Given the description of an element on the screen output the (x, y) to click on. 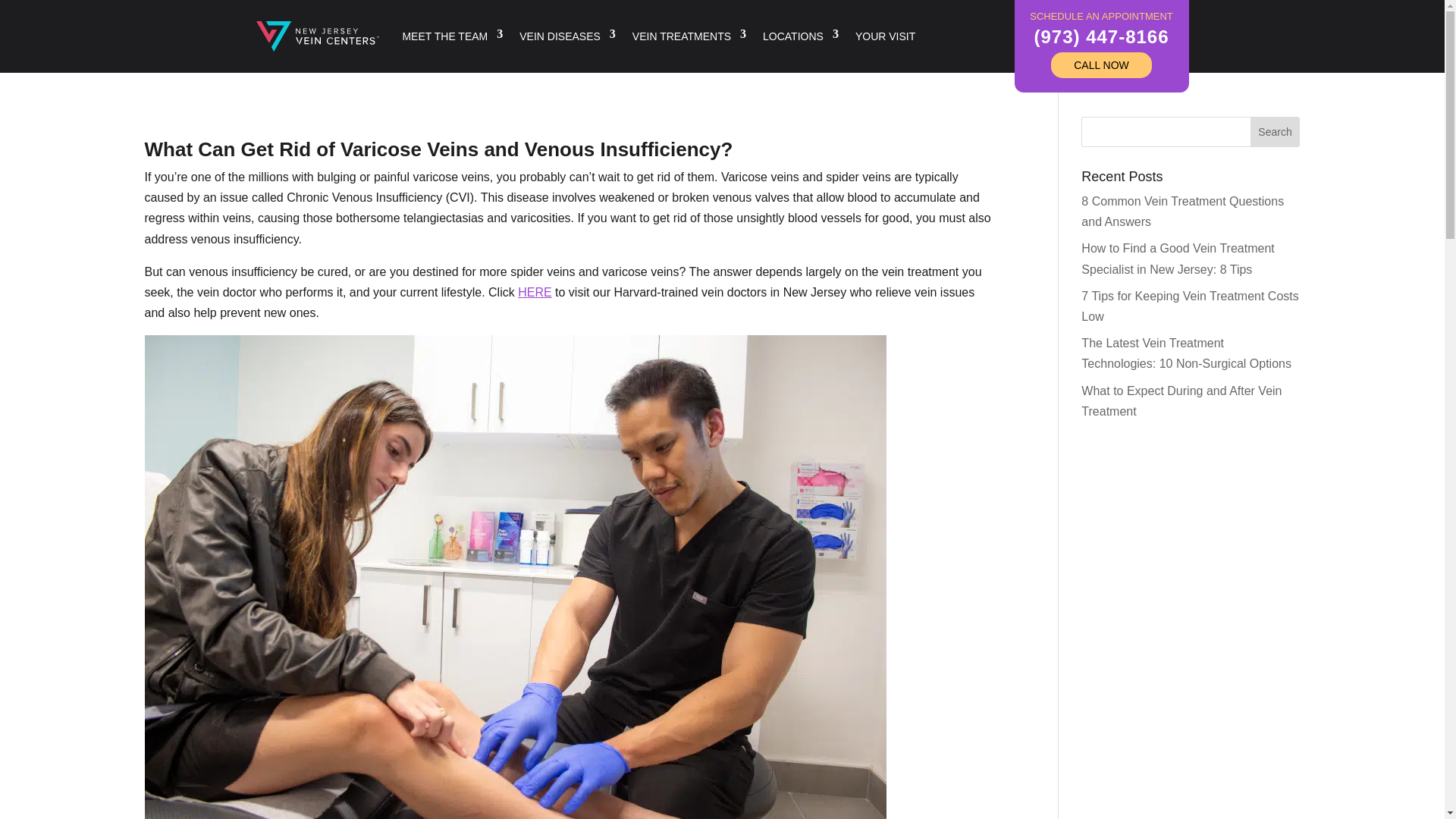
VEIN DISEASES (567, 36)
VEIN TREATMENTS (688, 36)
Search (1275, 132)
YOUR VISIT (885, 36)
LOCATIONS (800, 36)
MEET THE TEAM (451, 36)
